Given the description of an element on the screen output the (x, y) to click on. 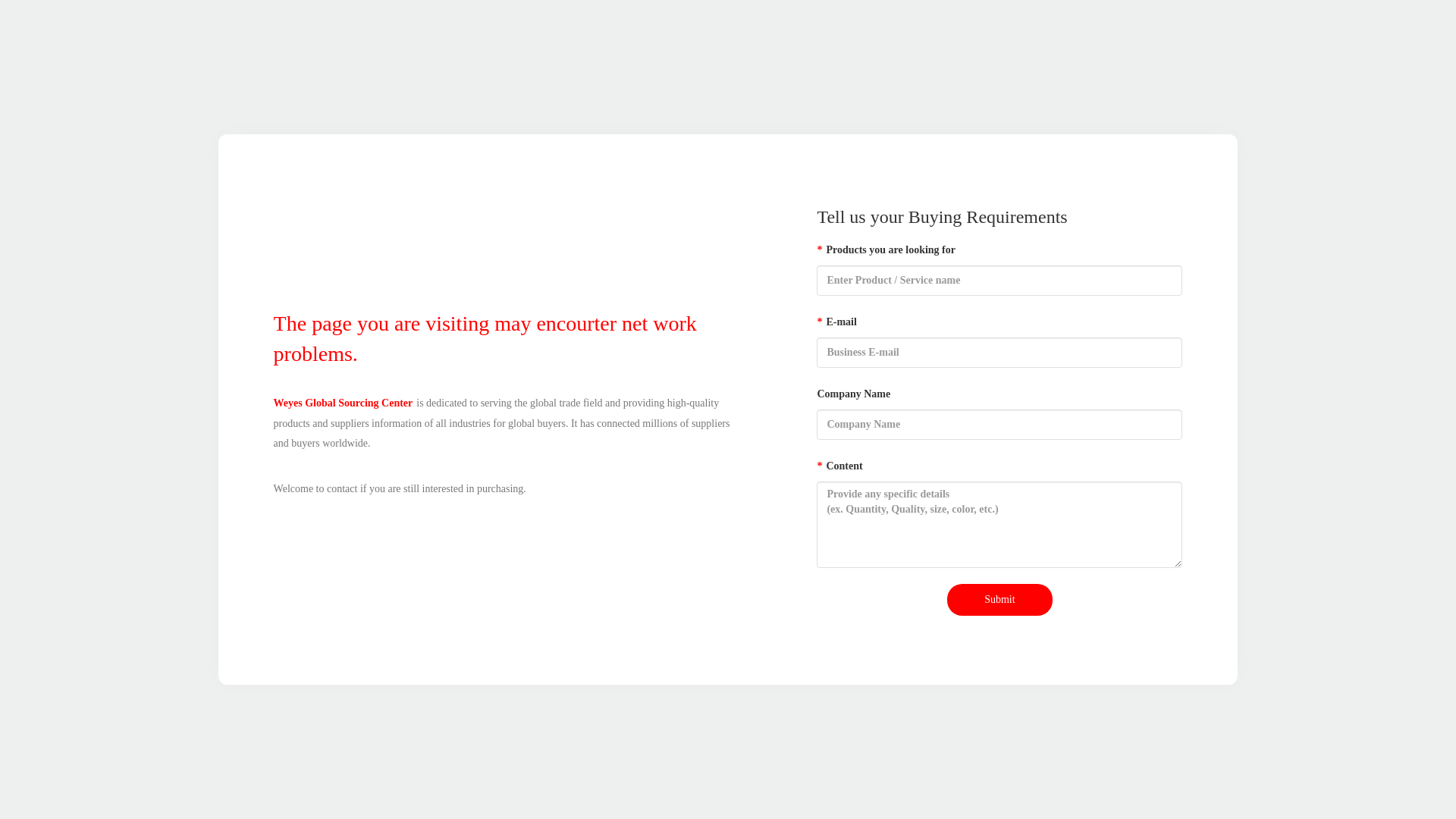
Submit (999, 599)
